Given the description of an element on the screen output the (x, y) to click on. 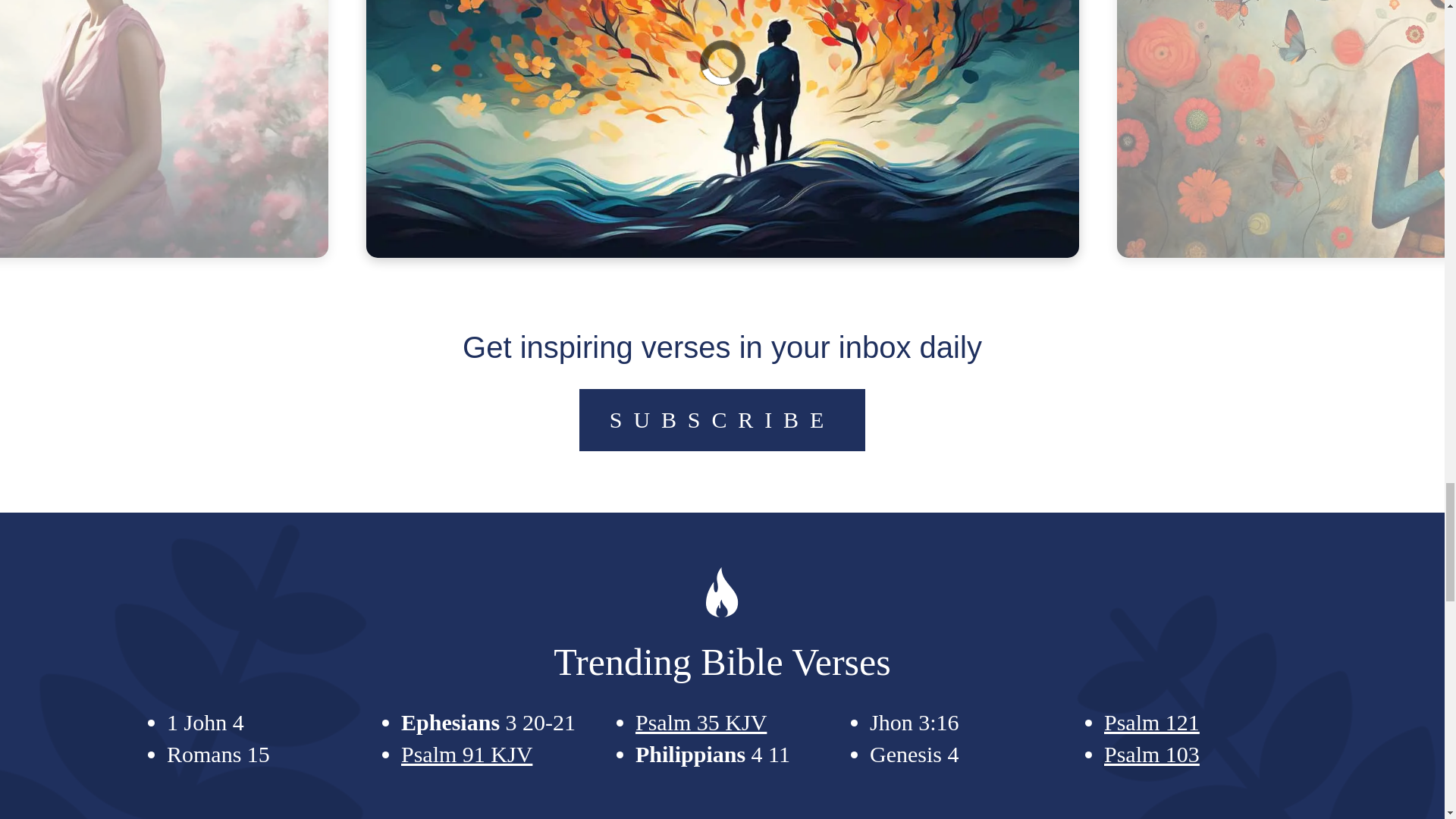
Prayers for protection (722, 52)
Psalm 103 (1151, 754)
Psalm 91 KJV (466, 754)
SUBSCRIBE (722, 420)
Psalm 121 (1151, 722)
Psalm 35 KJV (700, 722)
